Given the description of an element on the screen output the (x, y) to click on. 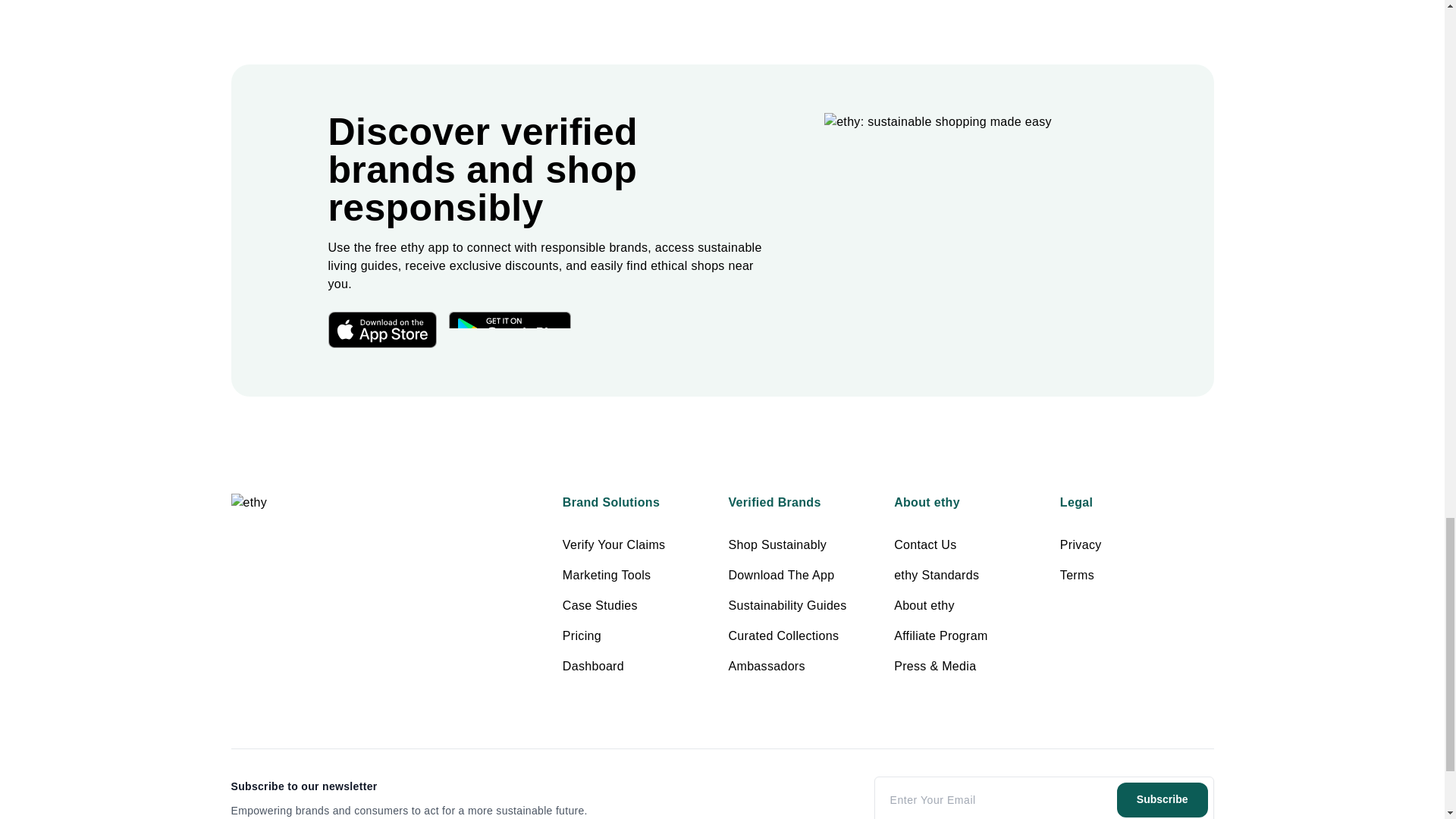
Case Studies (599, 604)
Curated Collections (783, 635)
Ambassadors (766, 666)
Marketing Tools (606, 574)
Shop Sustainably (777, 544)
Sustainability Guides (786, 604)
Download The App (781, 574)
Pricing (581, 635)
Dashboard (593, 666)
Verify Your Claims (613, 544)
